Given the description of an element on the screen output the (x, y) to click on. 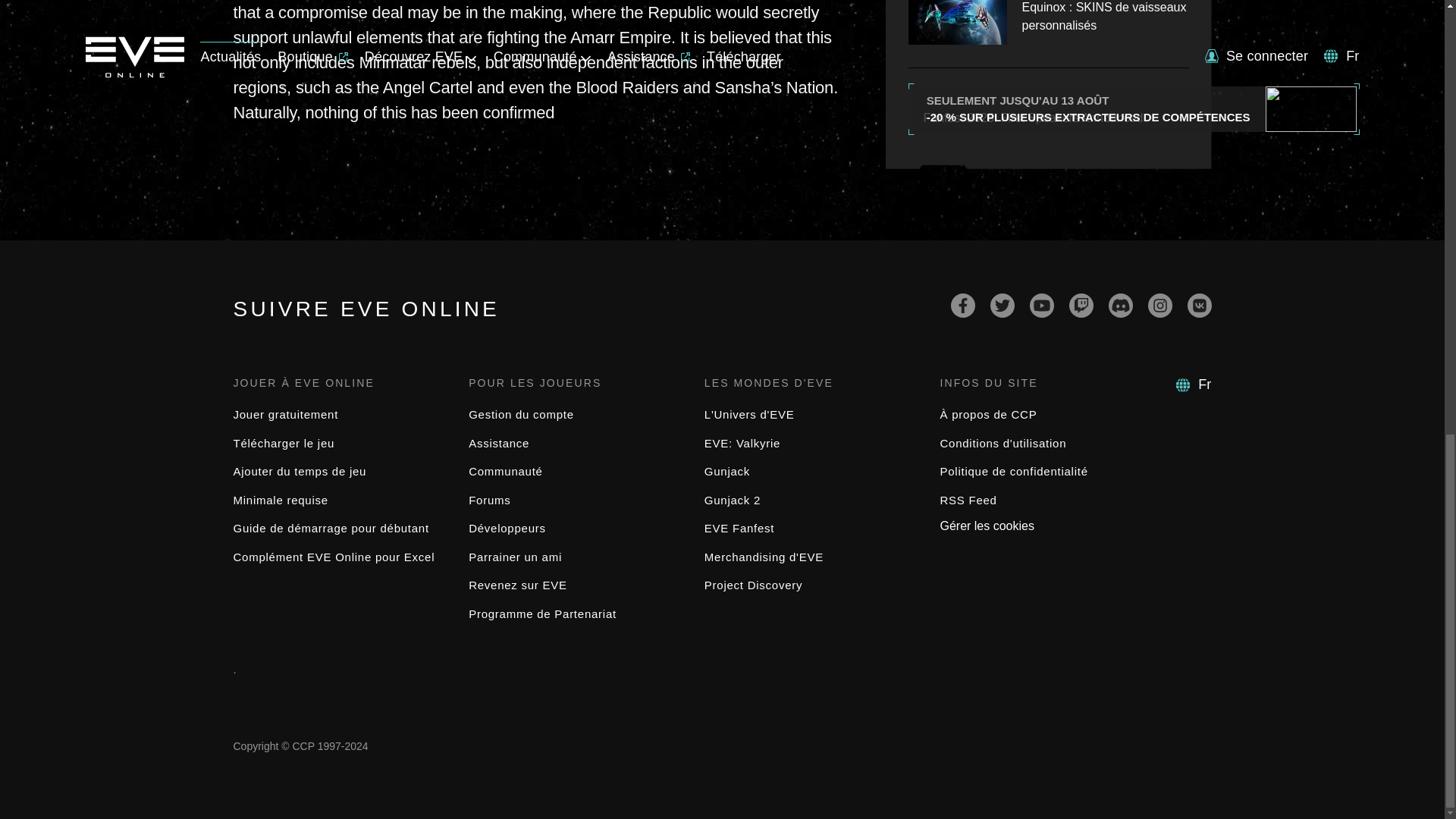
Discord (1120, 305)
VK (1199, 305)
Twitter (1002, 305)
YouTube (1041, 305)
Facebook (962, 305)
Twitch (1080, 305)
Instagram (1160, 305)
